Given the description of an element on the screen output the (x, y) to click on. 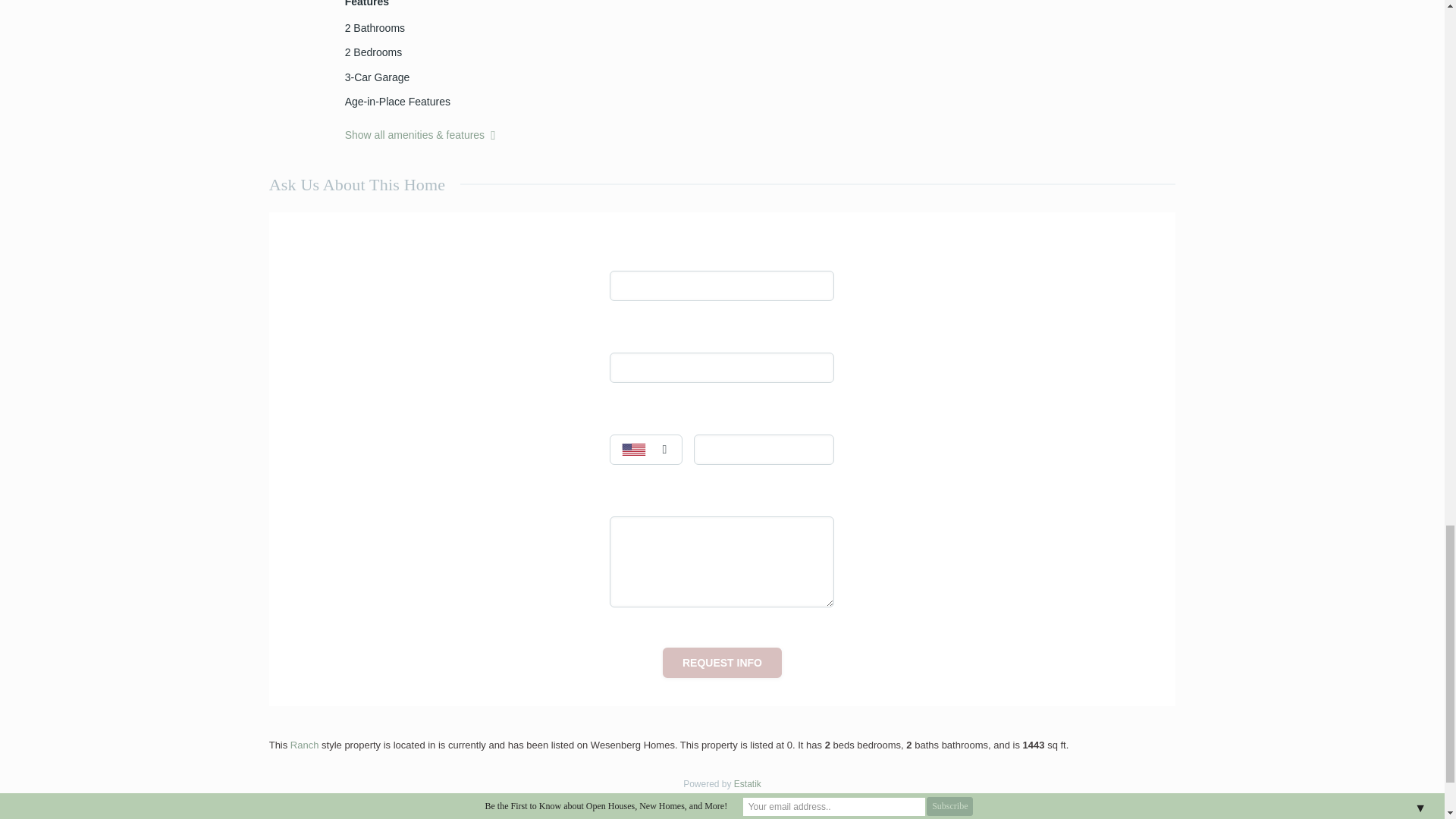
USA (645, 450)
